Given the description of an element on the screen output the (x, y) to click on. 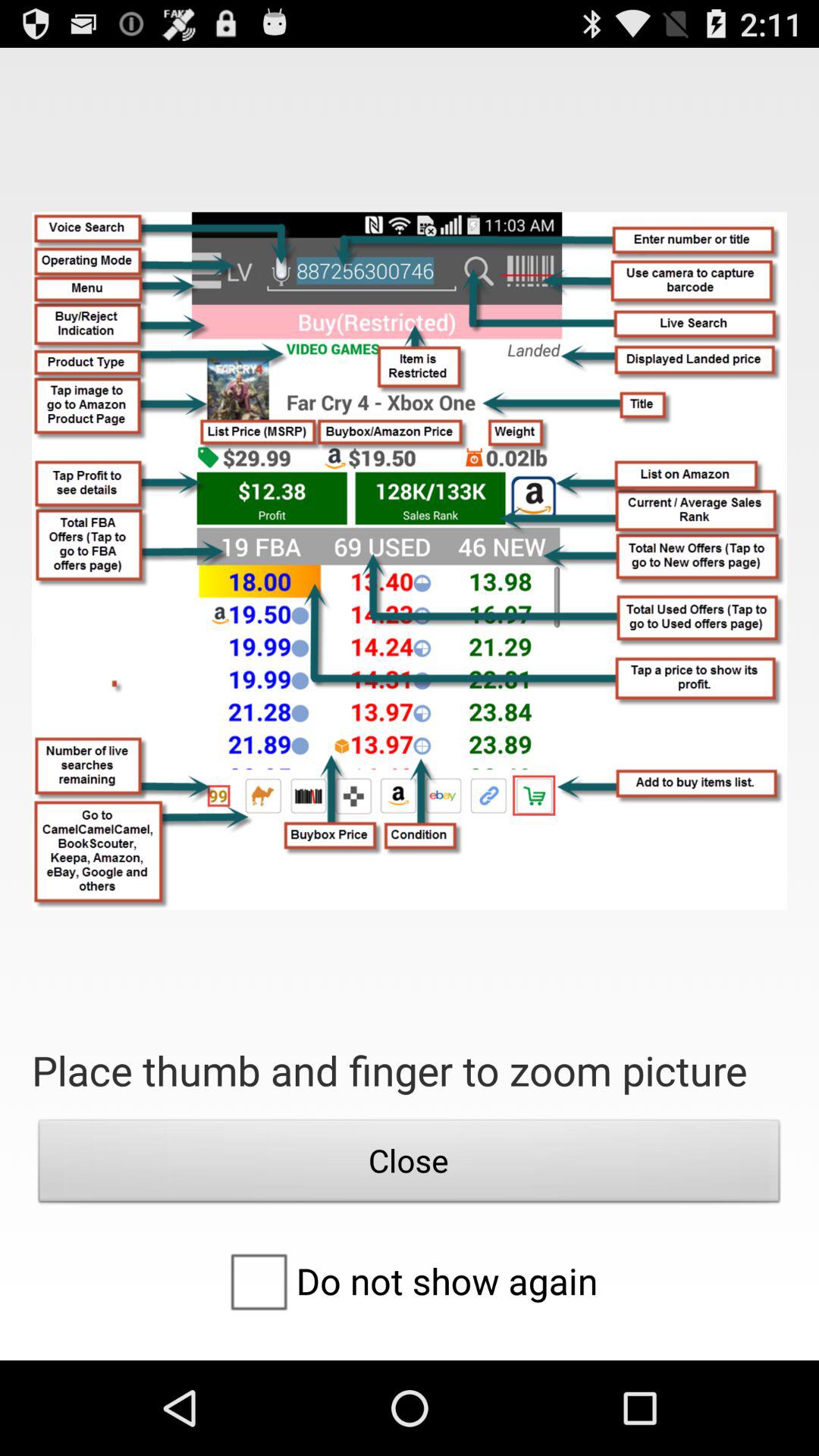
turn on the app below the place thumb and item (409, 1165)
